Given the description of an element on the screen output the (x, y) to click on. 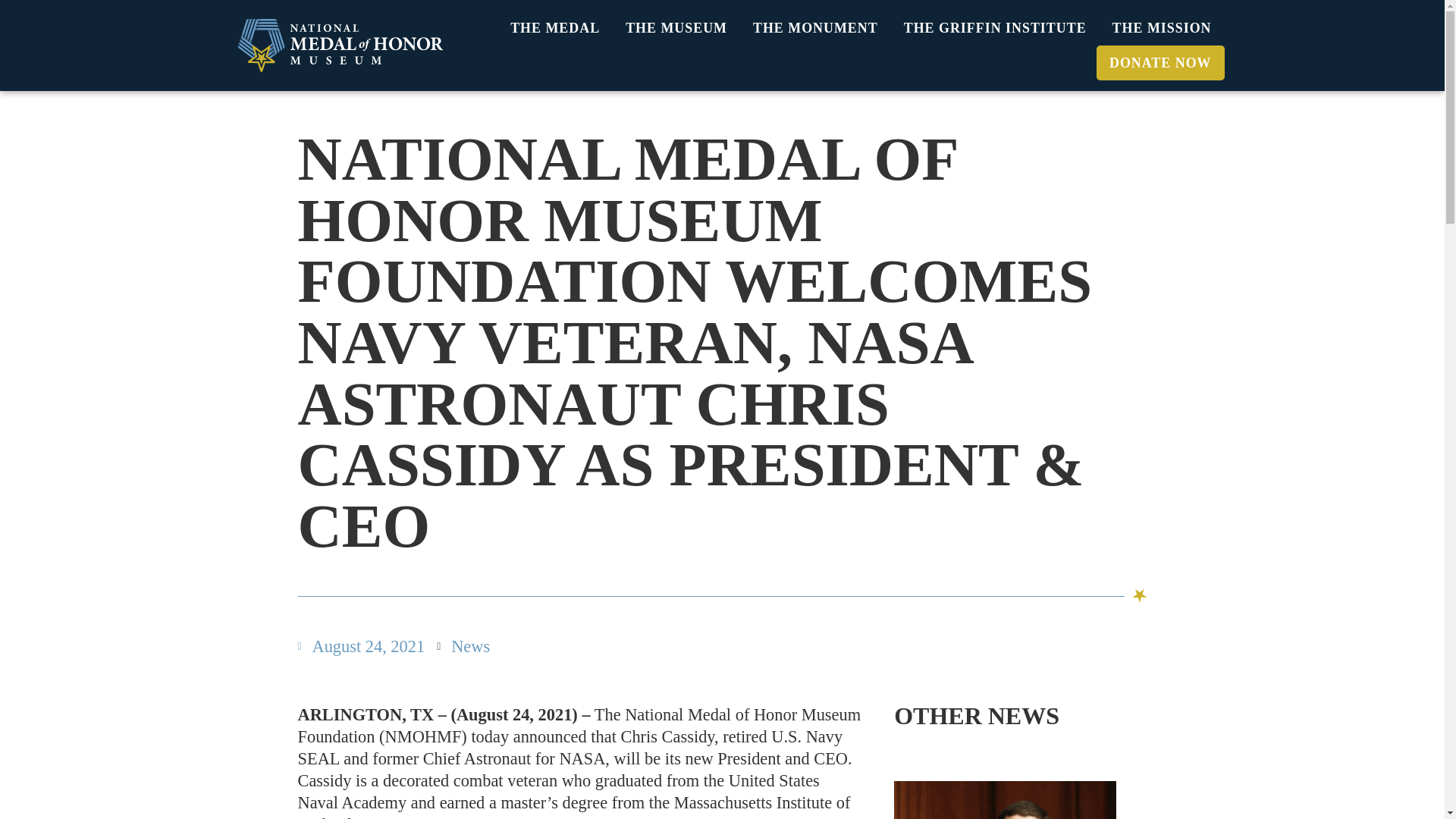
THE MISSION (1161, 27)
News (470, 646)
DONATE NOW (1160, 62)
THE GRIFFIN INSTITUTE (995, 27)
THE MONUMENT (815, 27)
THE MEDAL (554, 27)
August 24, 2021 (361, 646)
THE MUSEUM (675, 27)
